Given the description of an element on the screen output the (x, y) to click on. 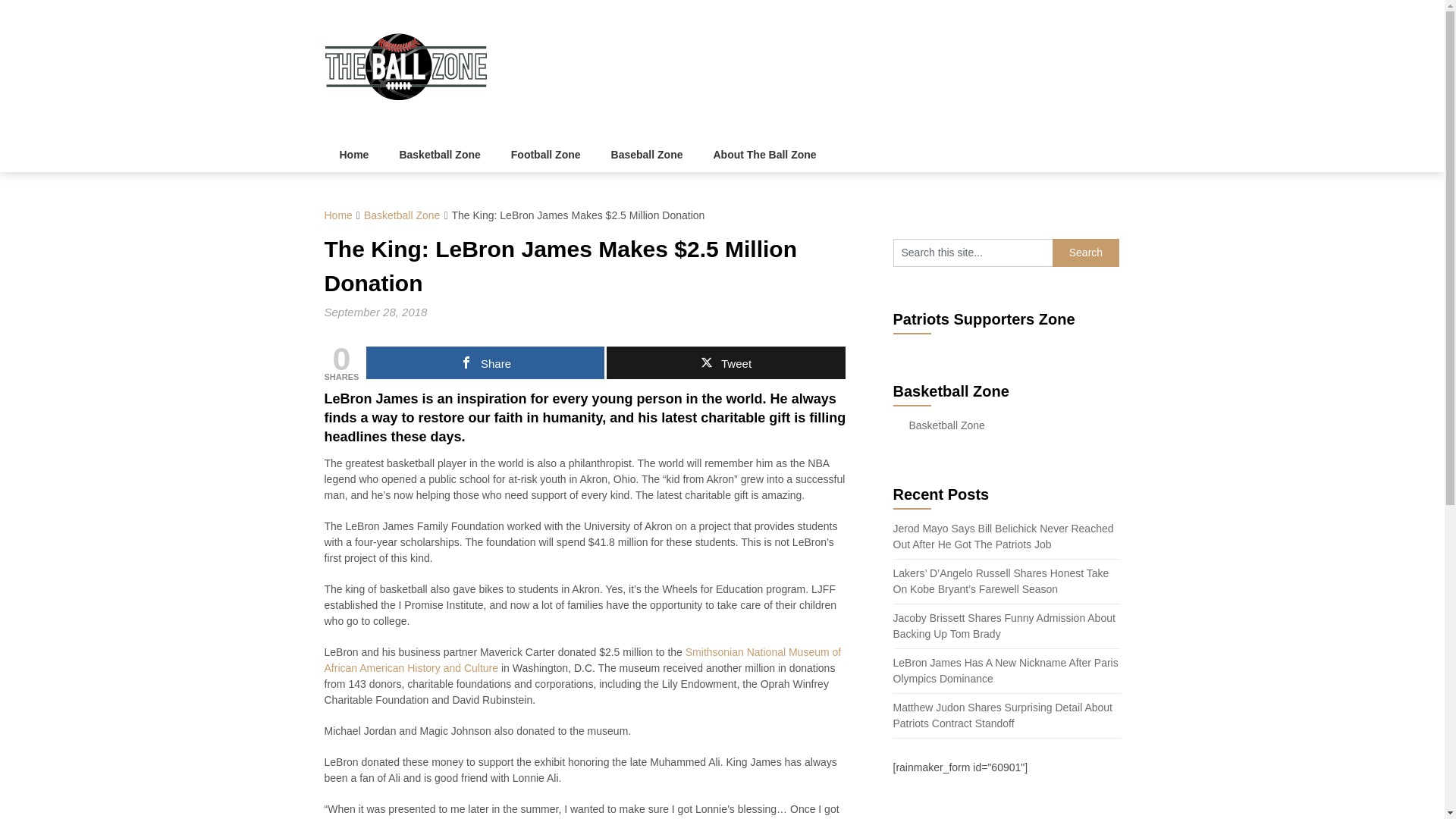
Baseball Zone (646, 154)
Search (1085, 252)
Search (1085, 252)
About The Ball Zone (764, 154)
Search this site... (972, 252)
Football Zone (545, 154)
Basketball Zone (946, 425)
Tweet (725, 362)
Home (338, 215)
Basketball Zone (401, 215)
Share (485, 362)
